Given the description of an element on the screen output the (x, y) to click on. 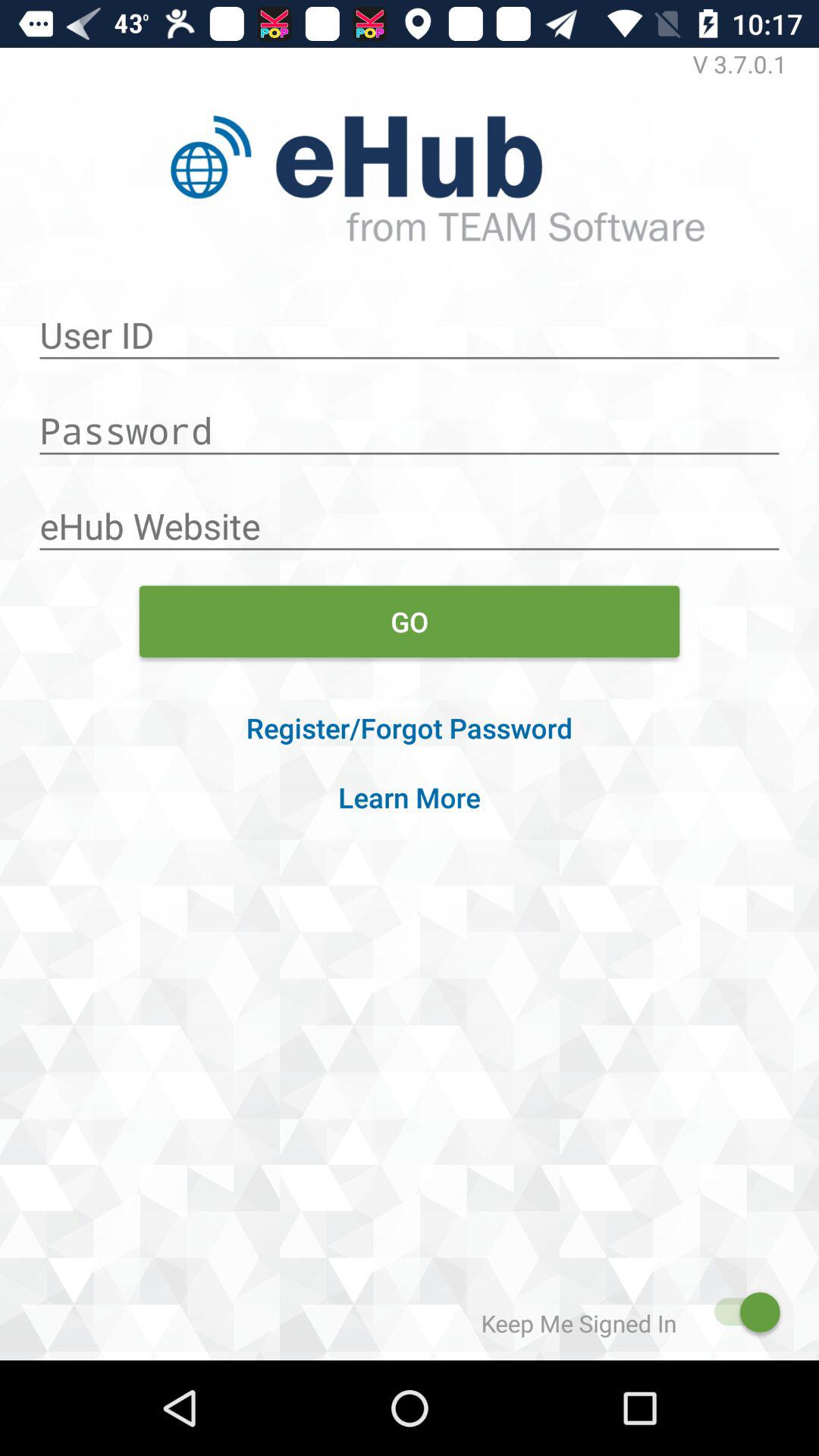
click to sign out (739, 1312)
